Given the description of an element on the screen output the (x, y) to click on. 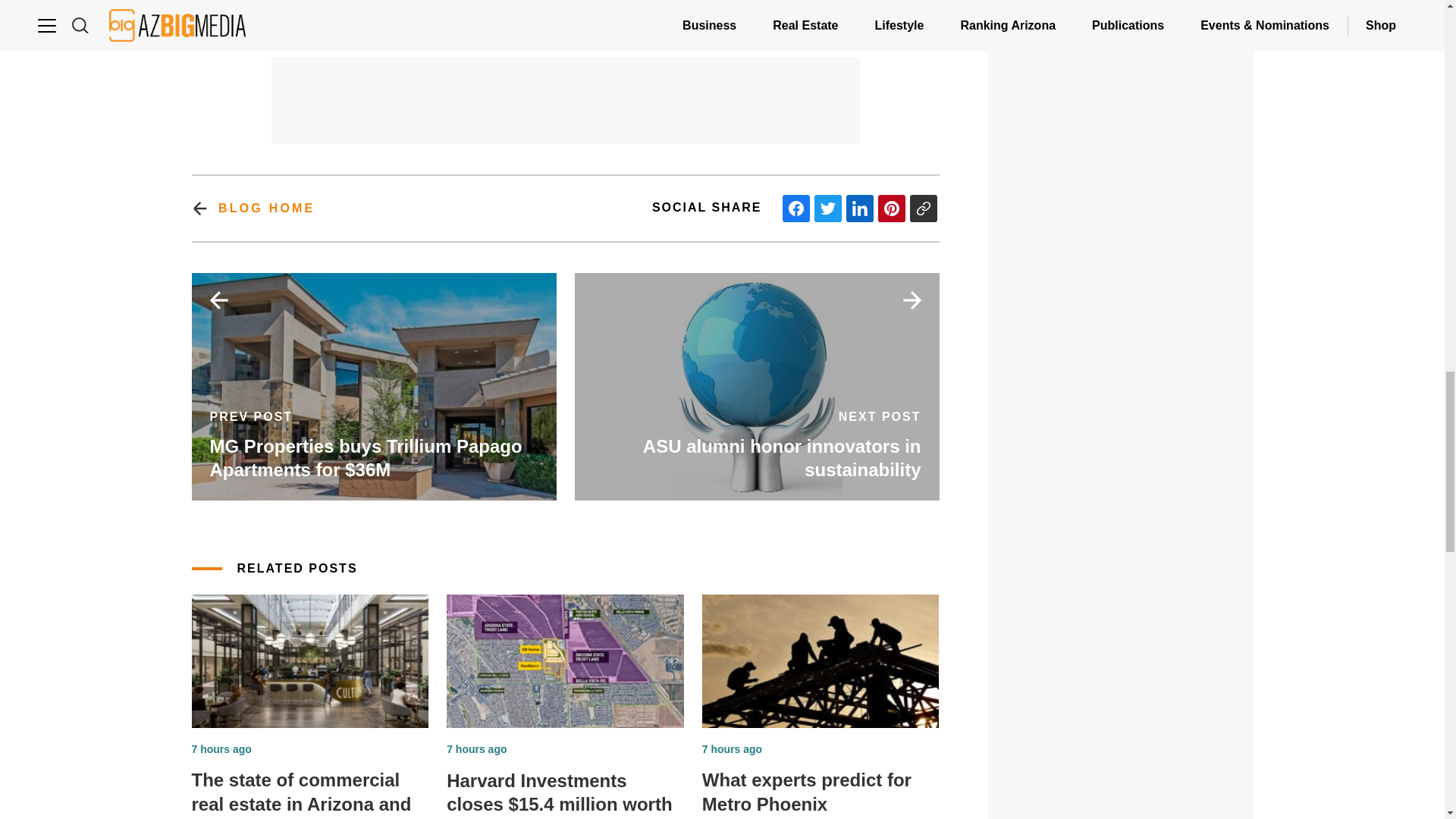
3rd party ad content (565, 10)
3rd party ad content (1120, 353)
3rd party ad content (1120, 46)
3rd party ad content (565, 91)
3rd party ad content (1120, 709)
